Given the description of an element on the screen output the (x, y) to click on. 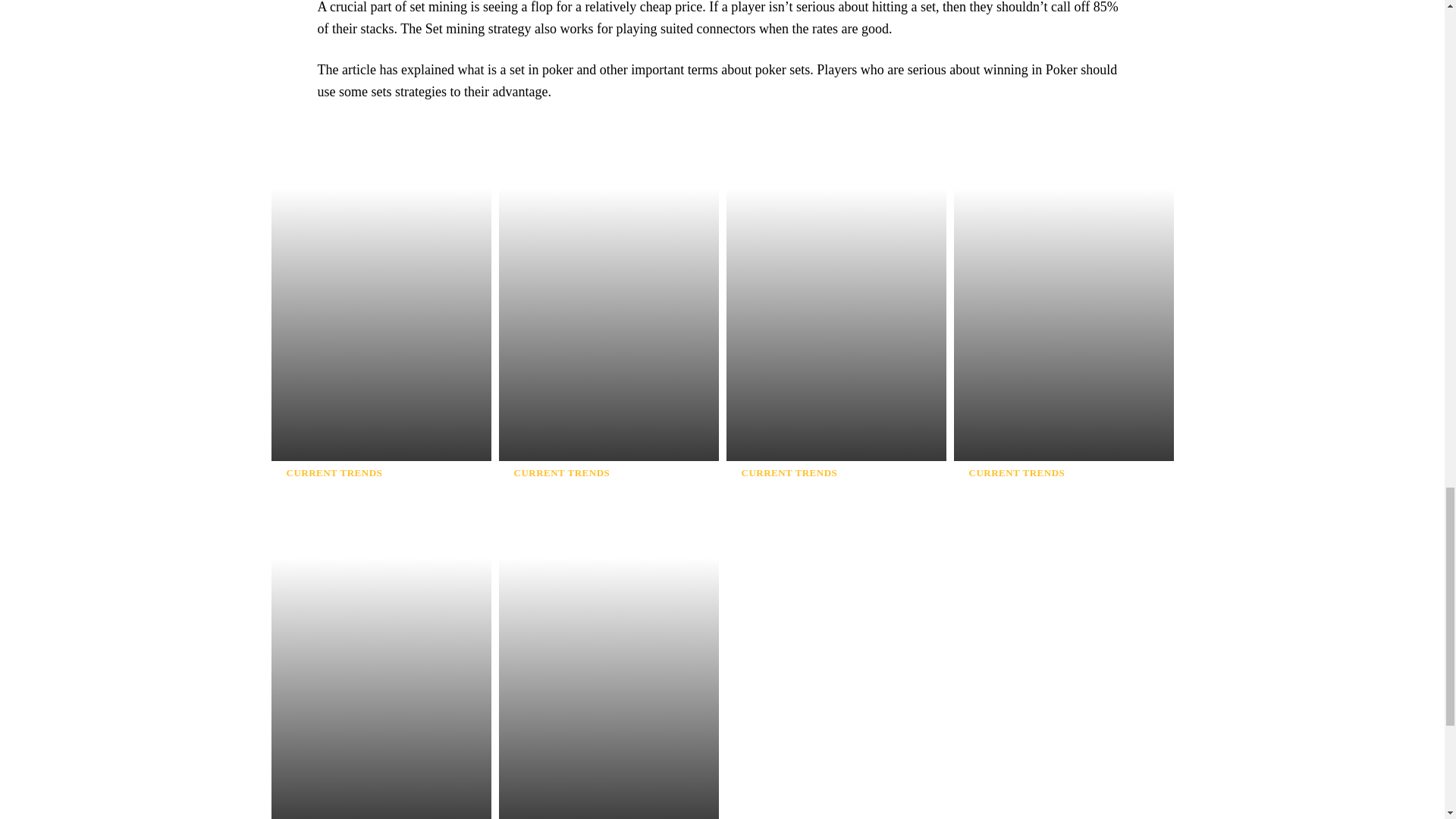
CURRENT TRENDS (334, 472)
When to install minecraft forge client vs server installer ? (806, 504)
What is the best Rizk Casino games online ? (354, 495)
What is the best Rizk Casino games online ? (354, 495)
CURRENT TRENDS (561, 472)
CURRENT TRENDS (1017, 472)
How to install a single hole bathroom faucet ? (583, 495)
CURRENT TRENDS (789, 472)
How to install a single hole bathroom faucet ? (583, 495)
When to install minecraft forge client vs server installer ? (806, 504)
